Given the description of an element on the screen output the (x, y) to click on. 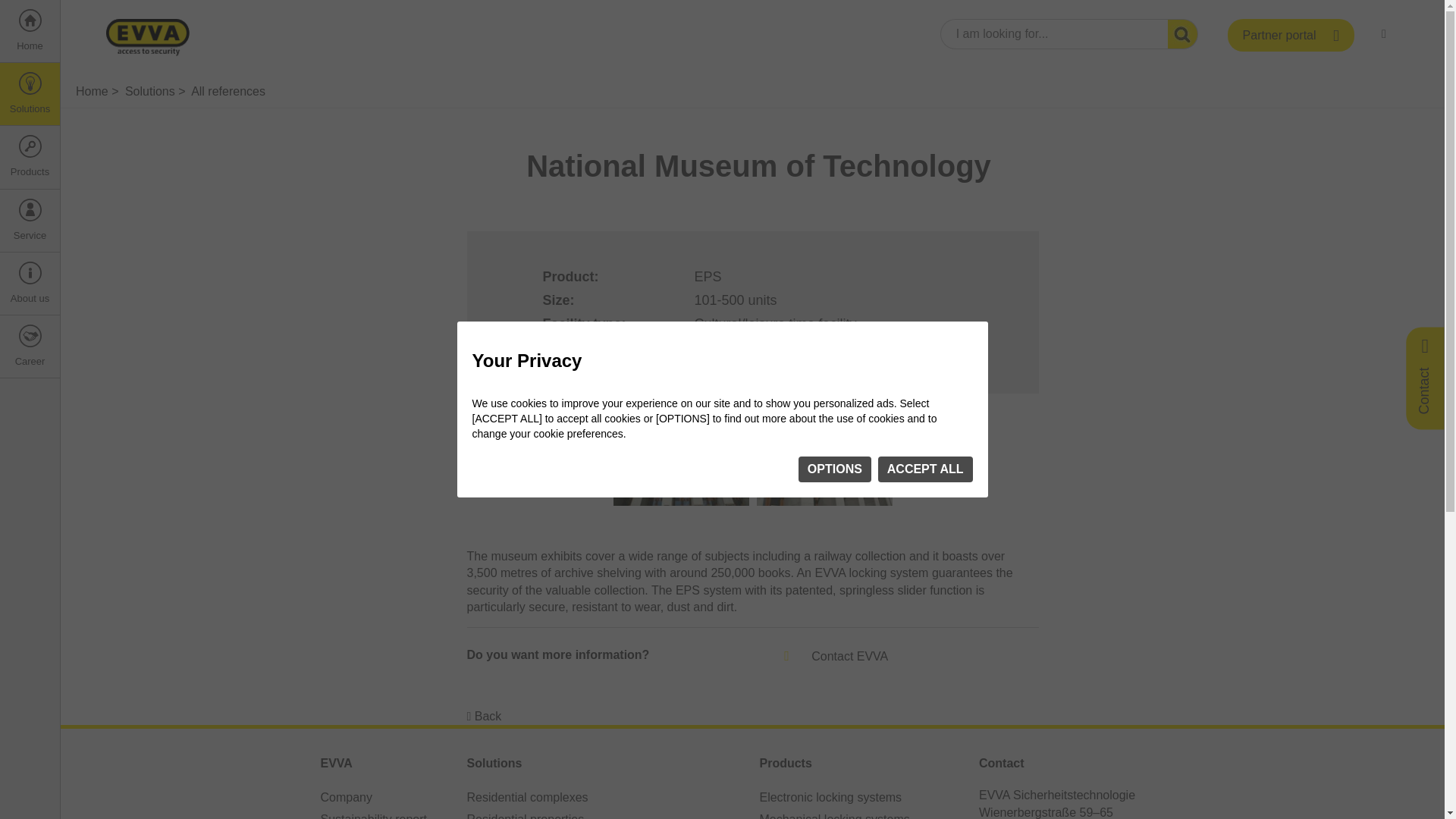
Home (29, 31)
Products (29, 157)
Solutions (29, 94)
